Given the description of an element on the screen output the (x, y) to click on. 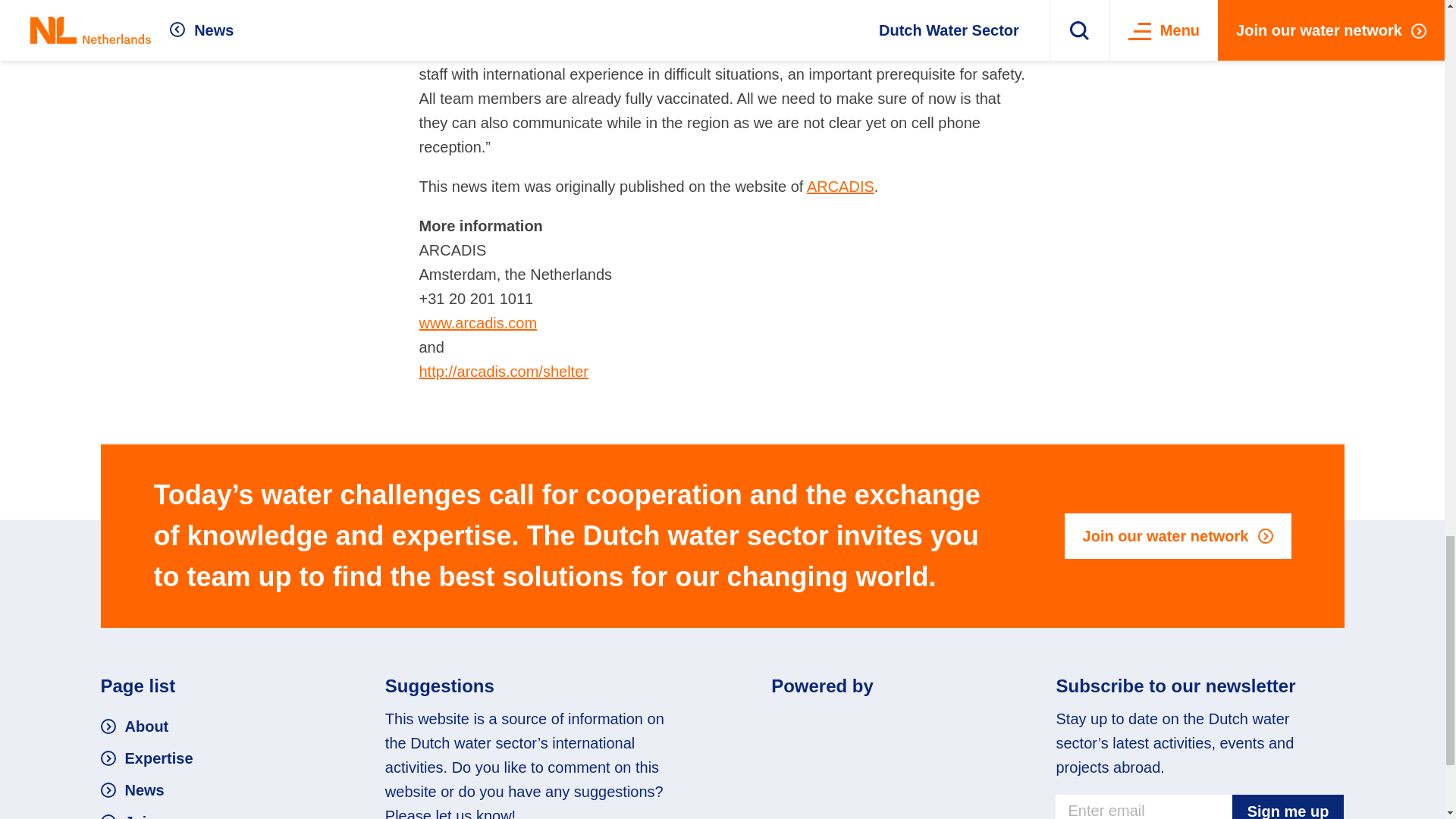
Join our water network (1177, 535)
News (131, 790)
Image (864, 723)
www.arcadis.com (478, 322)
Expertise (146, 758)
ARCADIS (840, 186)
About (134, 726)
